Given the description of an element on the screen output the (x, y) to click on. 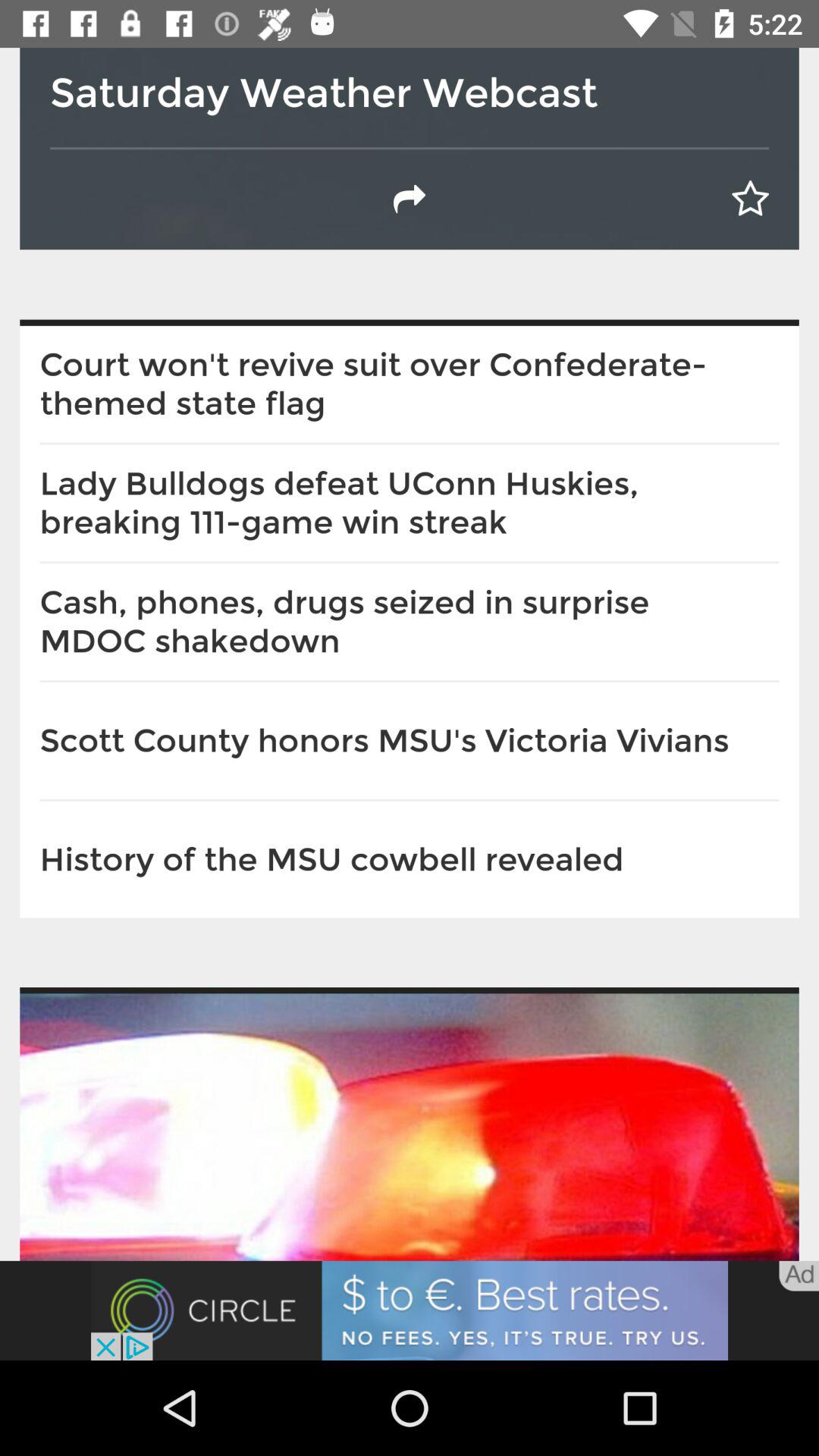
advertisement link (409, 1310)
